Given the description of an element on the screen output the (x, y) to click on. 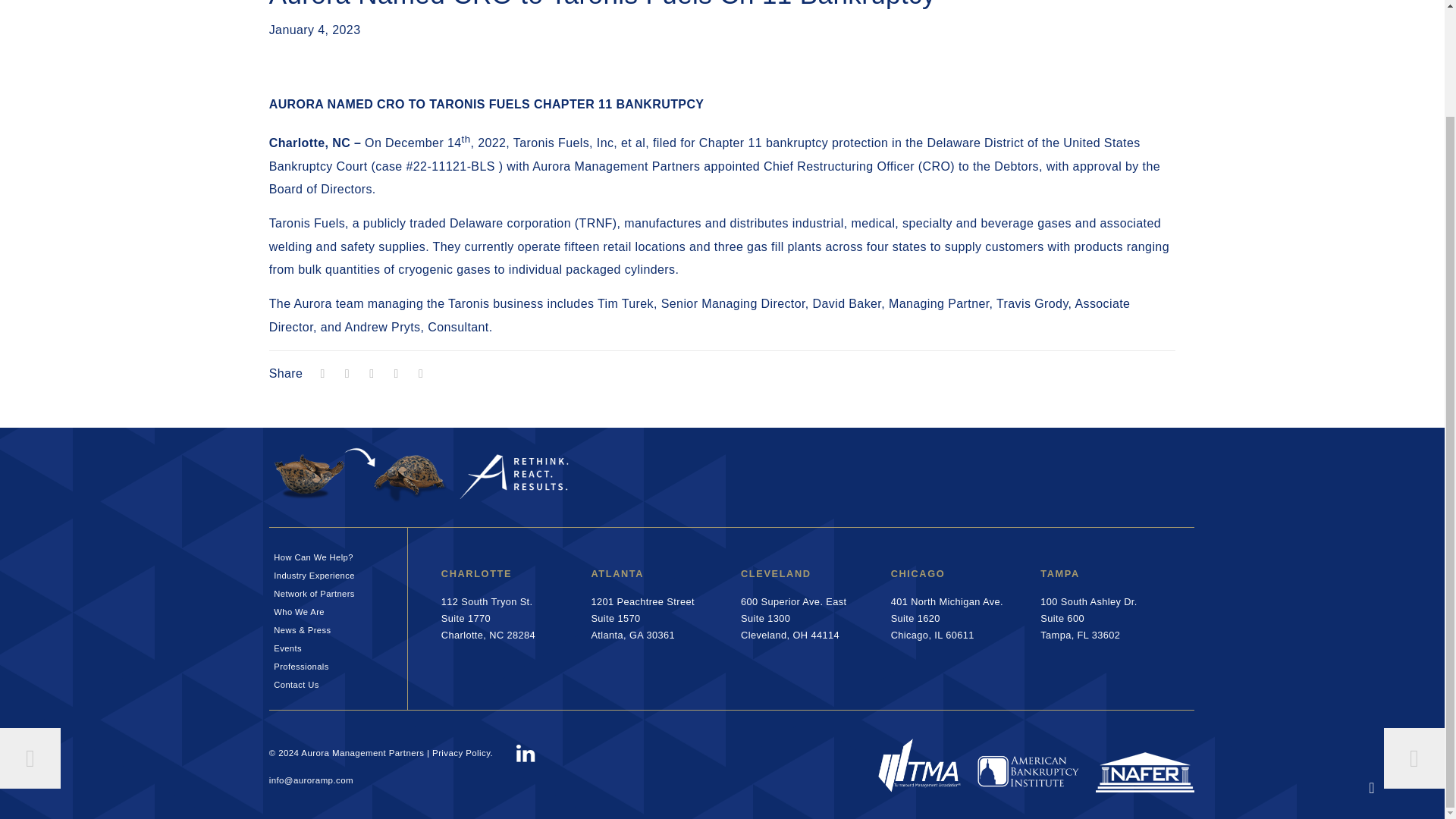
Privacy Policy (642, 618)
Network of Partners (460, 752)
Who We Are (337, 591)
Professionals (337, 609)
How Can We Help? (488, 618)
Contact Us (337, 664)
Events (337, 555)
Industry Experience (337, 682)
